Given the description of an element on the screen output the (x, y) to click on. 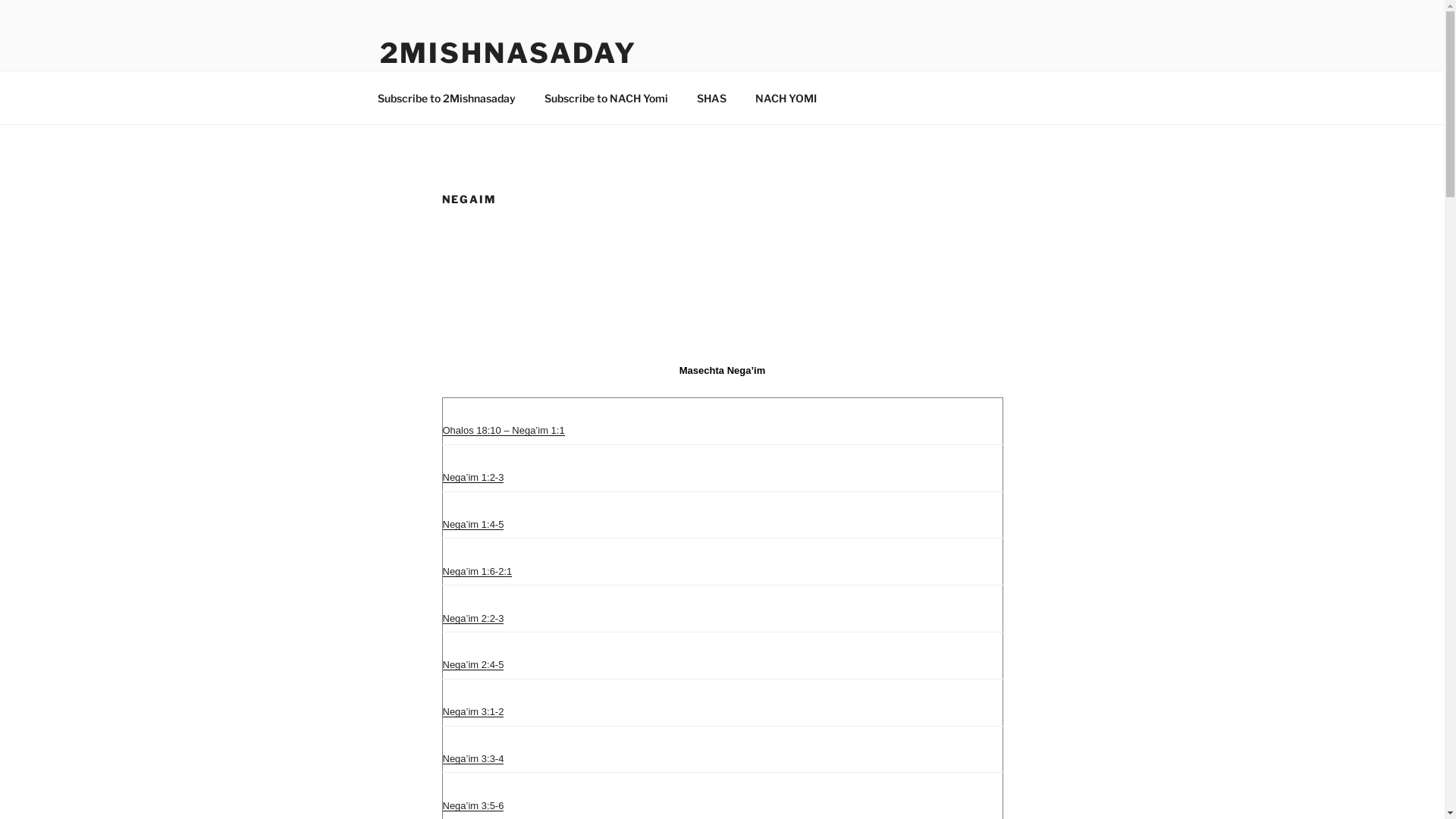
2MISHNASADAY Element type: text (508, 52)
NACH YOMI Element type: text (785, 97)
Subscribe to NACH Yomi Element type: text (605, 97)
Subscribe to 2Mishnasaday Element type: text (446, 97)
SHAS Element type: text (712, 97)
